Given the description of an element on the screen output the (x, y) to click on. 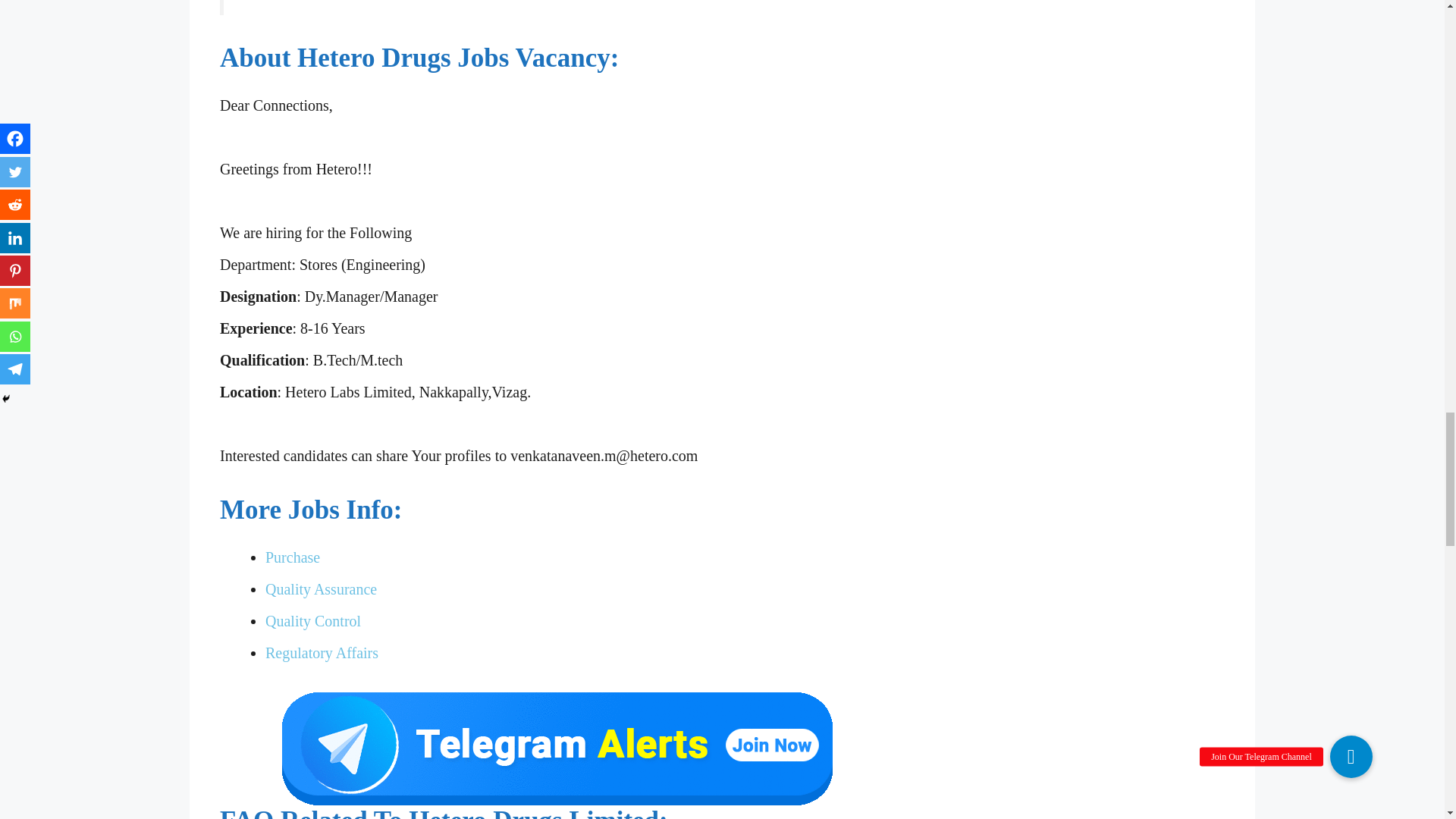
Quality Assurance (320, 588)
Regulatory Affairs (321, 652)
Quality Control (312, 620)
Purchase (292, 556)
